Given the description of an element on the screen output the (x, y) to click on. 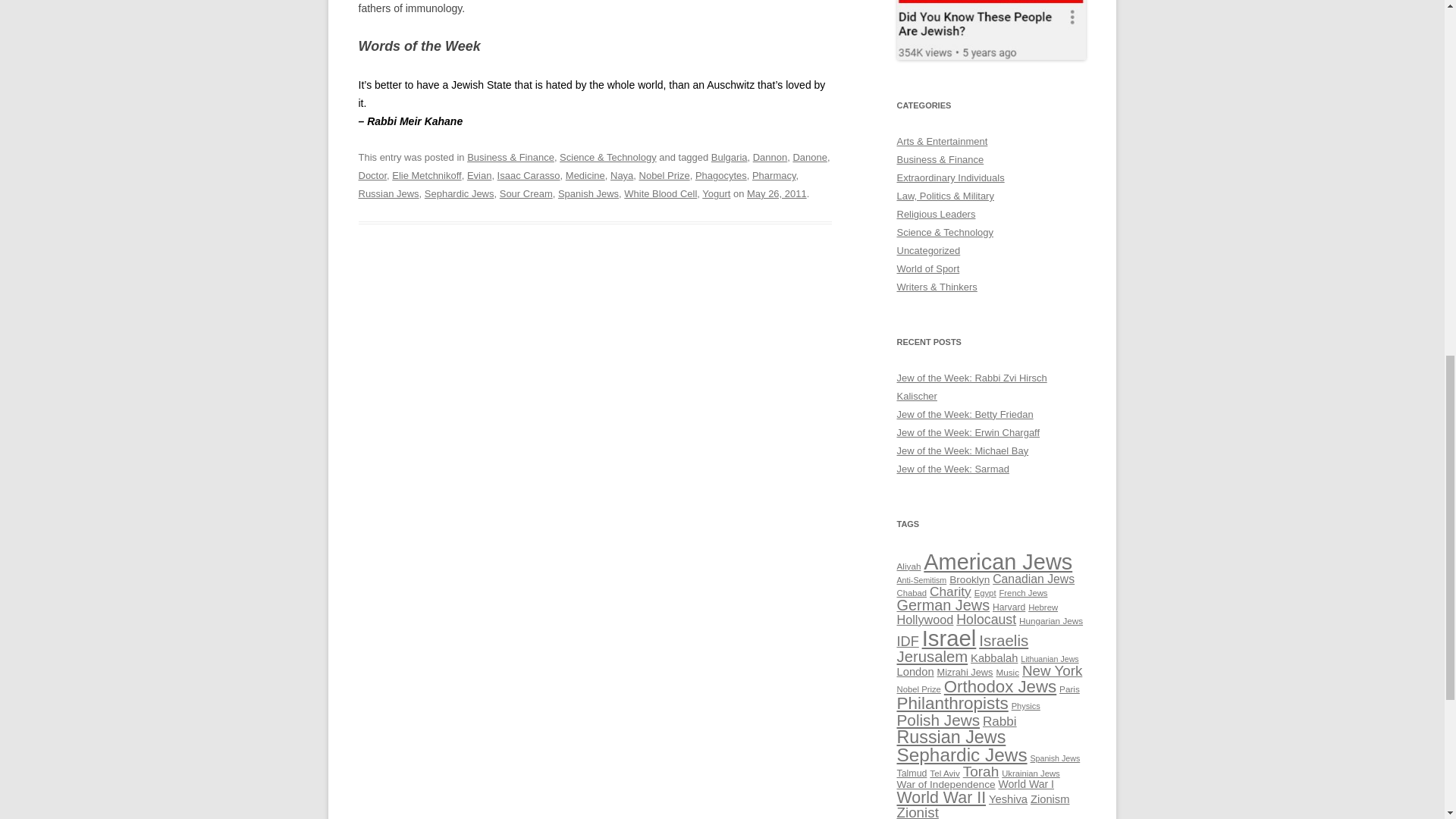
Russian Jews (388, 193)
May 26, 2011 (776, 193)
Elie Metchnikoff (426, 174)
Naya (621, 174)
Medicine (585, 174)
Phagocytes (720, 174)
White Blood Cell (660, 193)
Danone (809, 156)
Sephardic Jews (460, 193)
Spanish Jews (587, 193)
Isaac Carasso (528, 174)
Extraordinary Individuals (950, 177)
Bulgaria (729, 156)
Doctor (372, 174)
Religious Leaders (935, 214)
